Given the description of an element on the screen output the (x, y) to click on. 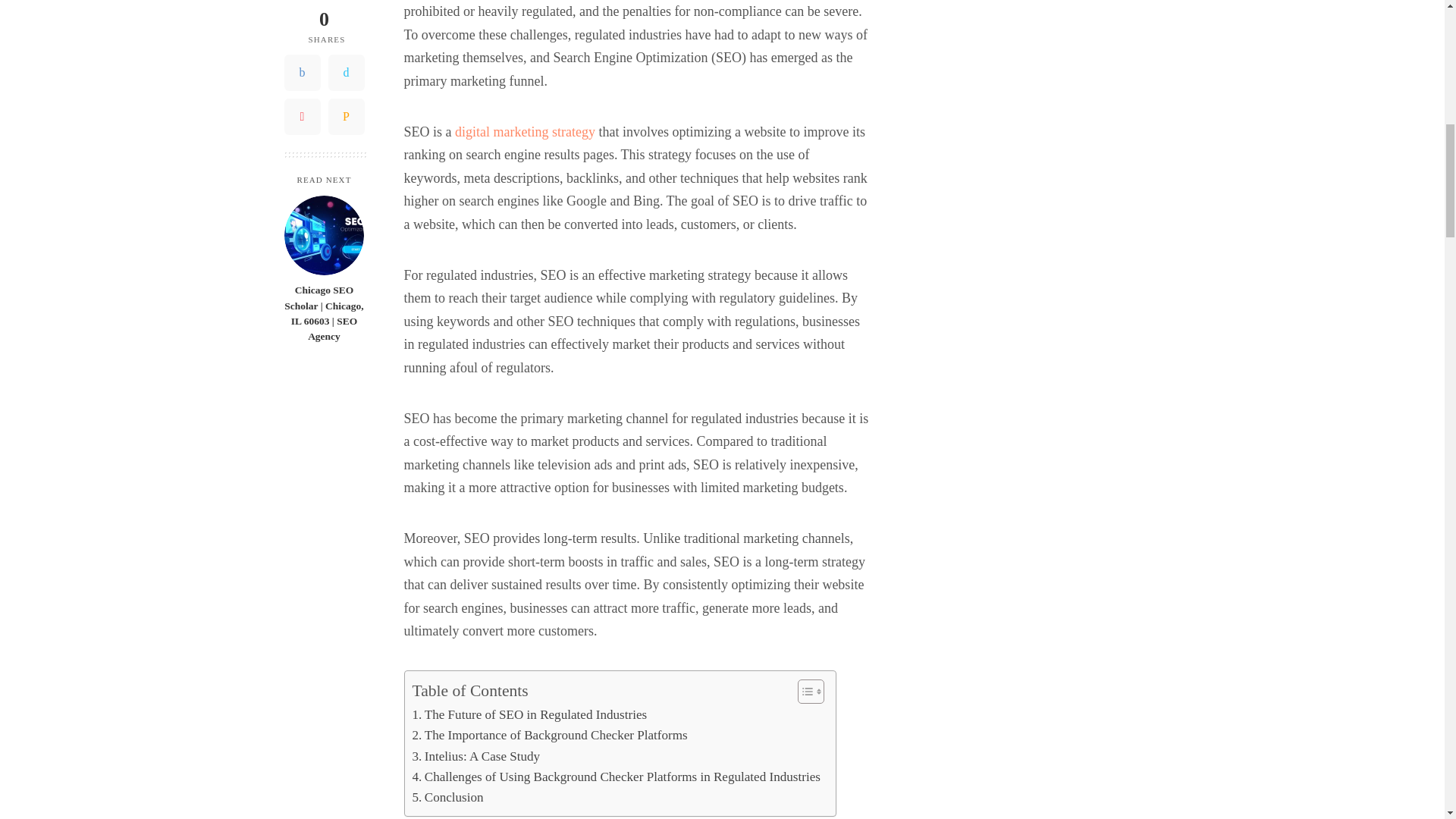
Twitter (345, 6)
The Future of SEO in Regulated Industries (529, 714)
Intelius: A Case Study (476, 756)
Conclusion (447, 797)
The Importance of Background Checker Platforms (549, 734)
Pinterest (301, 39)
Facebook (301, 6)
Email (345, 39)
